Given the description of an element on the screen output the (x, y) to click on. 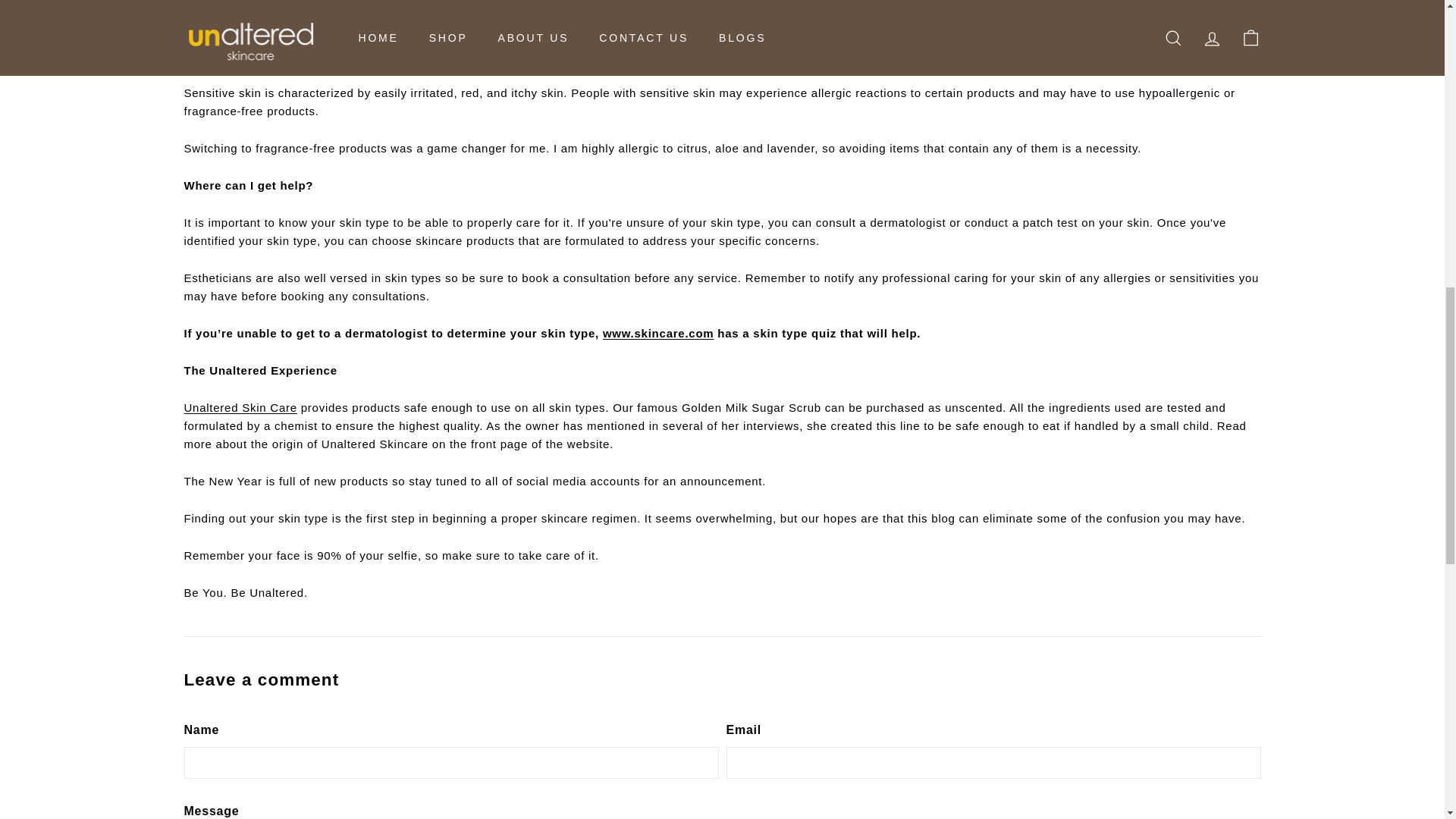
www.skincare.com (658, 332)
Unaltered Skin Care (240, 407)
unalteredskincare (240, 407)
